Given the description of an element on the screen output the (x, y) to click on. 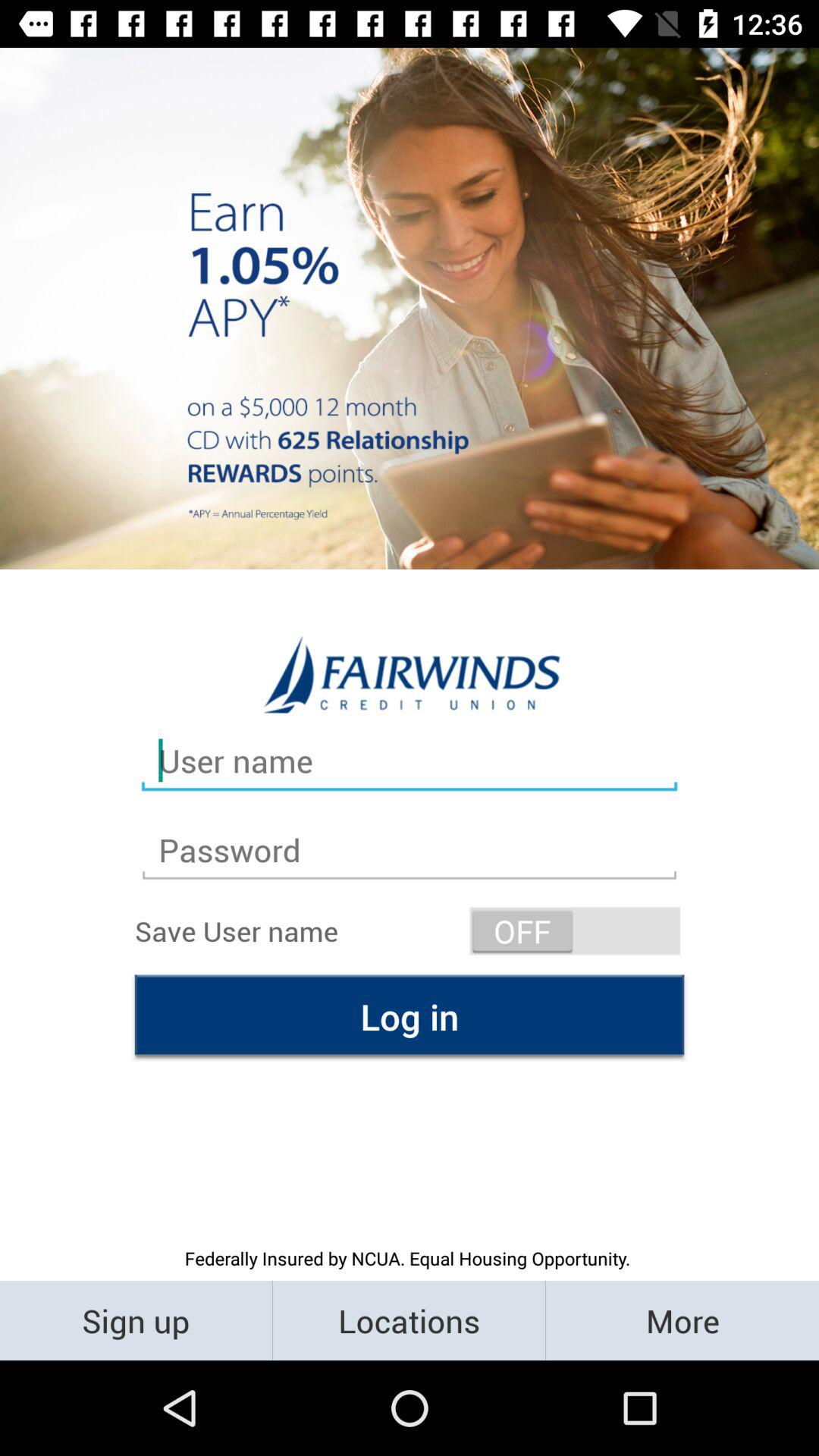
turn on the icon to the right of the sign up icon (409, 1320)
